Given the description of an element on the screen output the (x, y) to click on. 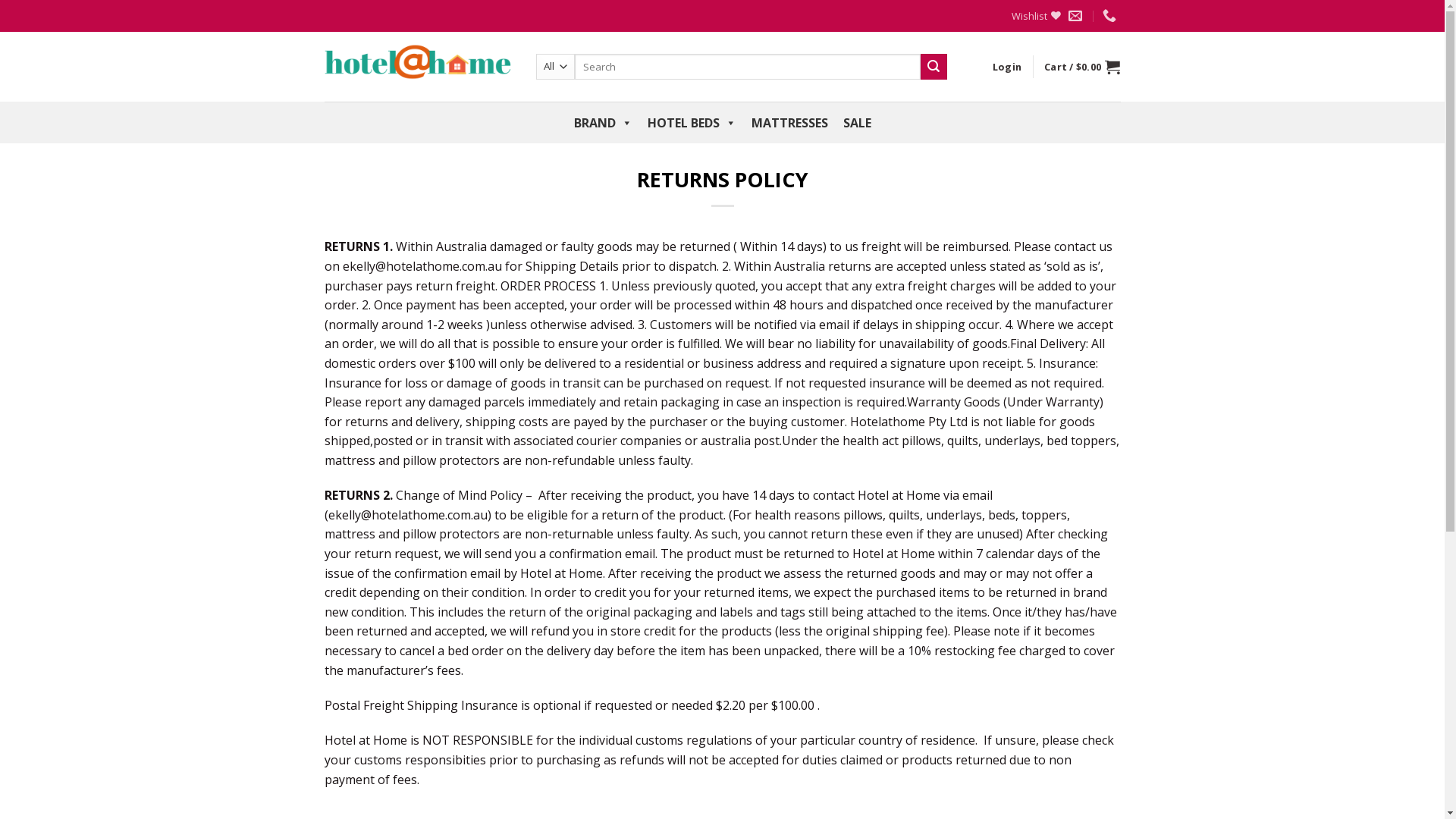
Wishlist Element type: text (1035, 15)
BRAND Element type: text (602, 122)
MATTRESSES Element type: text (788, 122)
ekelly@hotelathome.com.au Element type: hover (1076, 15)
SALE Element type: text (856, 122)
Hotel at Home Element type: hover (418, 66)
HOTEL BEDS Element type: text (691, 122)
Search Element type: text (933, 66)
Cart / $0.00 Element type: text (1082, 66)
0415101101 Element type: hover (1111, 15)
Login Element type: text (1006, 66)
